Given the description of an element on the screen output the (x, y) to click on. 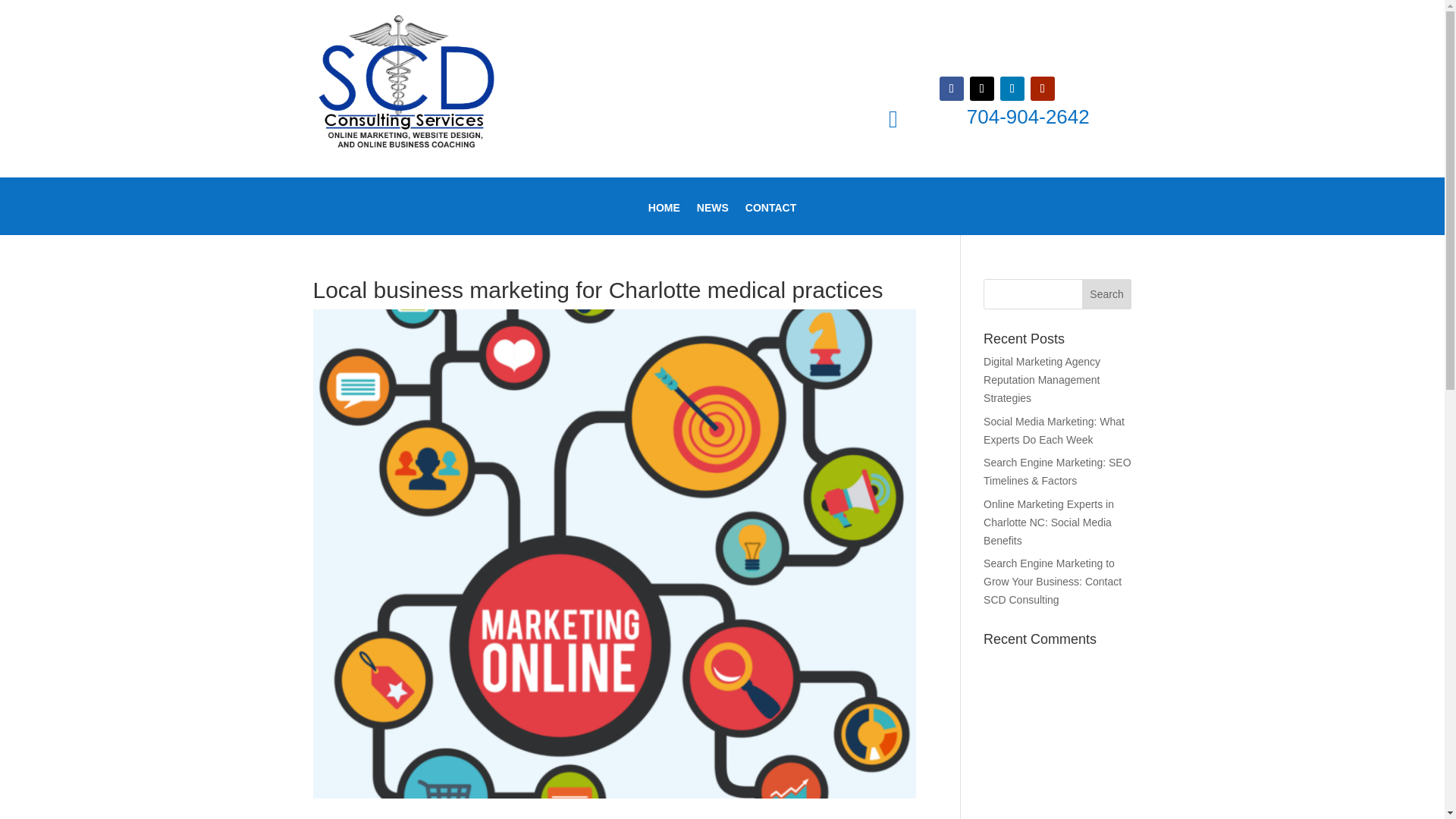
Social Media Marketing: What Experts Do Each Week (1054, 430)
Search (1106, 294)
Follow on Facebook (951, 88)
Search (1106, 294)
Follow on LinkedIn (1012, 88)
Digital Marketing Agency Reputation Management Strategies (1042, 379)
704-904-2642 (1027, 116)
CONTACT (770, 218)
